Given the description of an element on the screen output the (x, y) to click on. 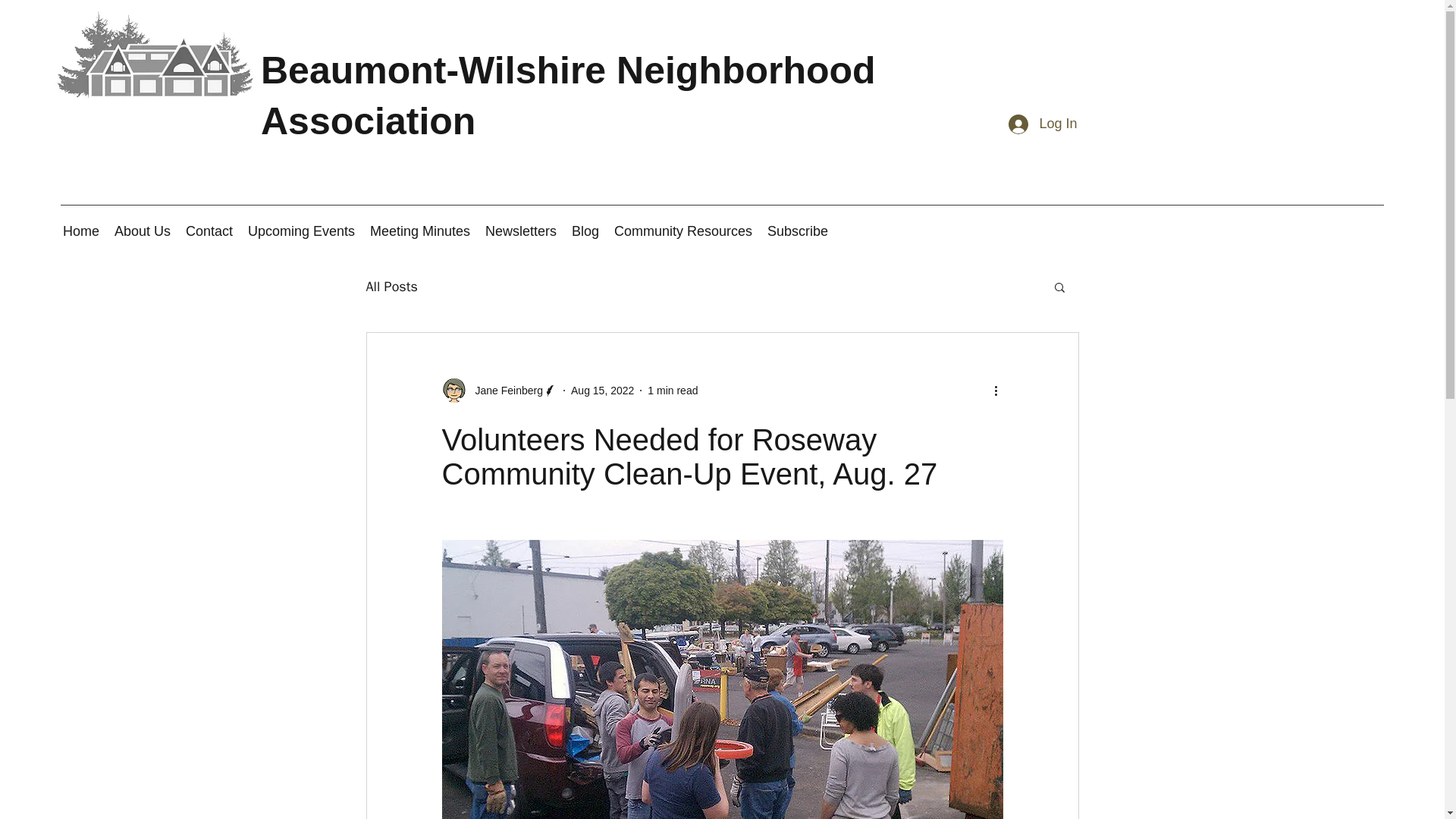
About Us (141, 231)
Aug 15, 2022 (601, 389)
Upcoming Events (301, 231)
Newsletters (520, 231)
Home (80, 231)
Log In (1042, 123)
Blog (585, 231)
Contact (208, 231)
Community Resources (683, 231)
1 min read (672, 389)
All Posts (390, 286)
Jane Feinberg (504, 390)
Beaumont-Wilshire Neighborhood Association (568, 95)
Meeting Minutes (419, 231)
Jane Feinberg (499, 390)
